Given the description of an element on the screen output the (x, y) to click on. 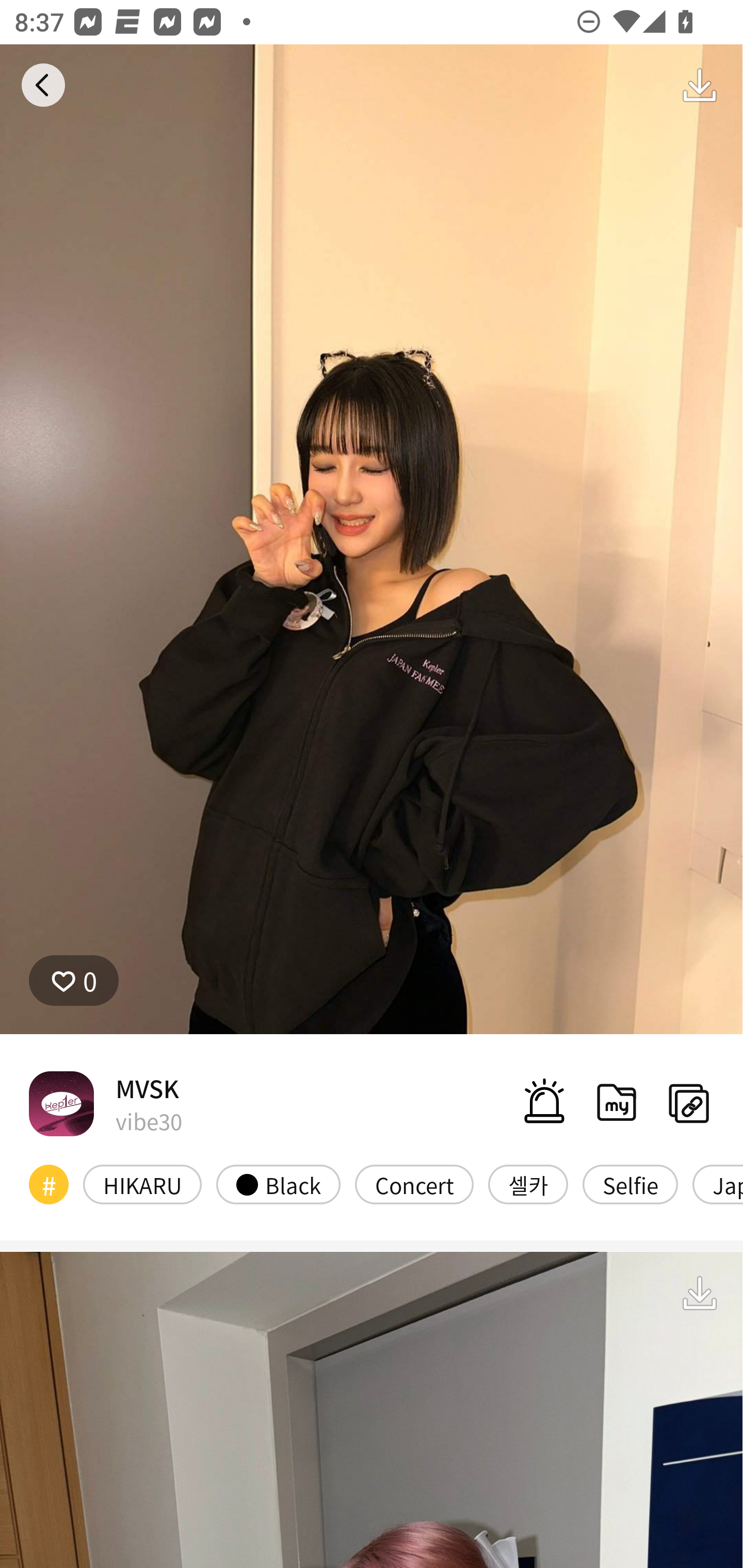
0 (73, 980)
MVSK vibe30 (105, 1102)
HIKARU (142, 1184)
Black (278, 1184)
Concert (414, 1184)
셀카 (528, 1184)
Selfie (629, 1184)
